Given the description of an element on the screen output the (x, y) to click on. 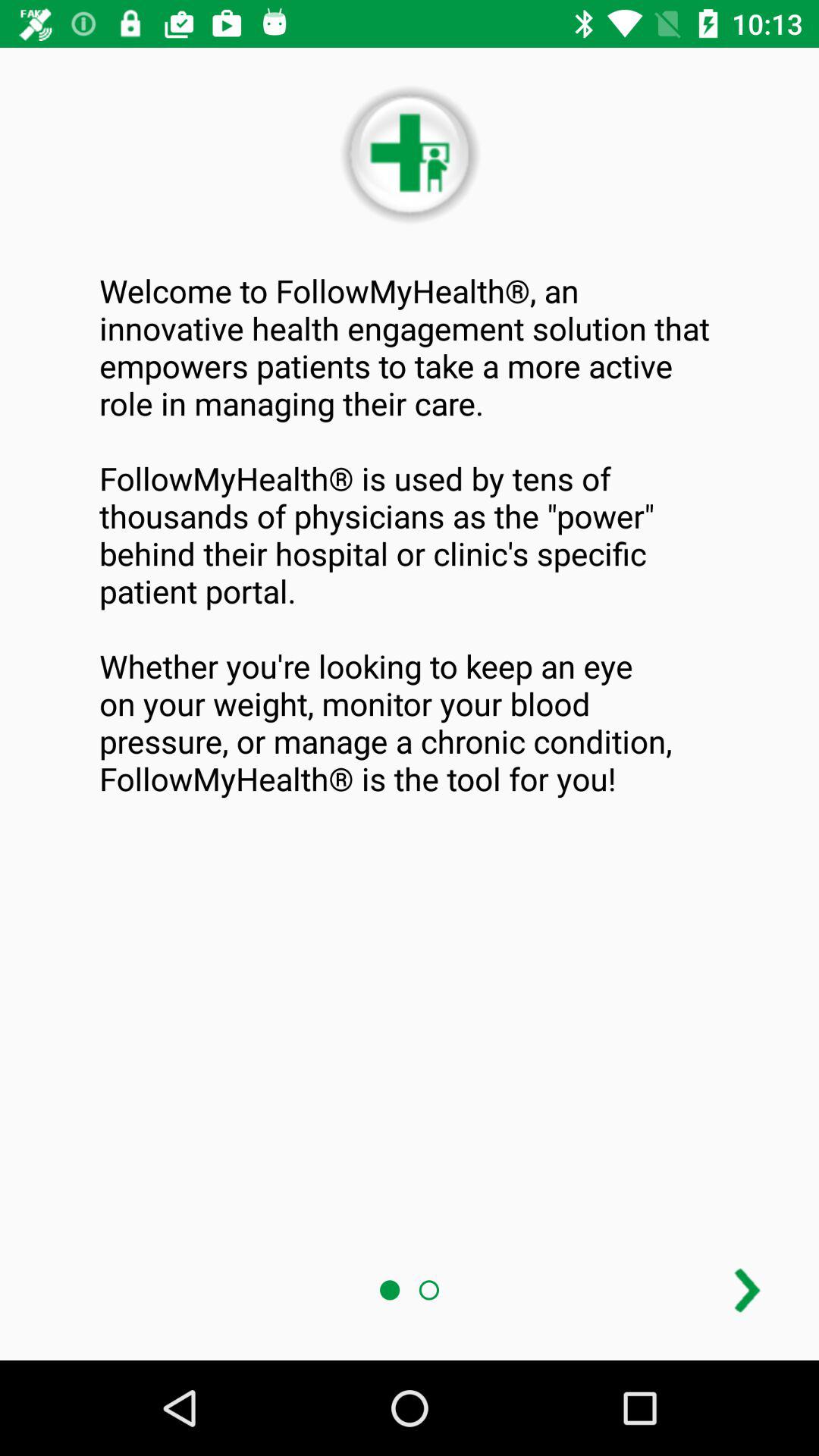
open the item at the bottom right corner (747, 1290)
